Given the description of an element on the screen output the (x, y) to click on. 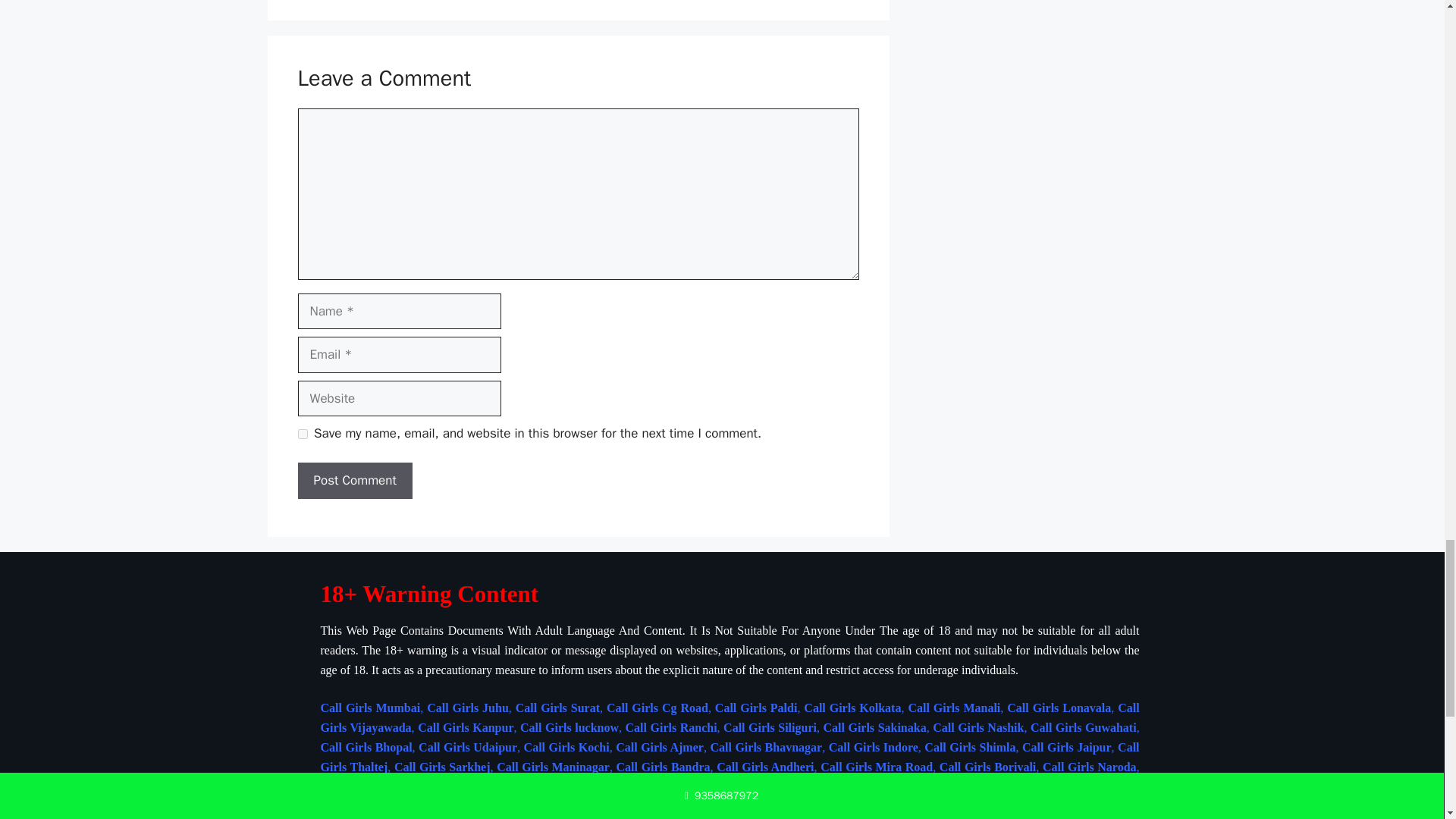
yes (302, 433)
Post Comment (354, 480)
